Given the description of an element on the screen output the (x, y) to click on. 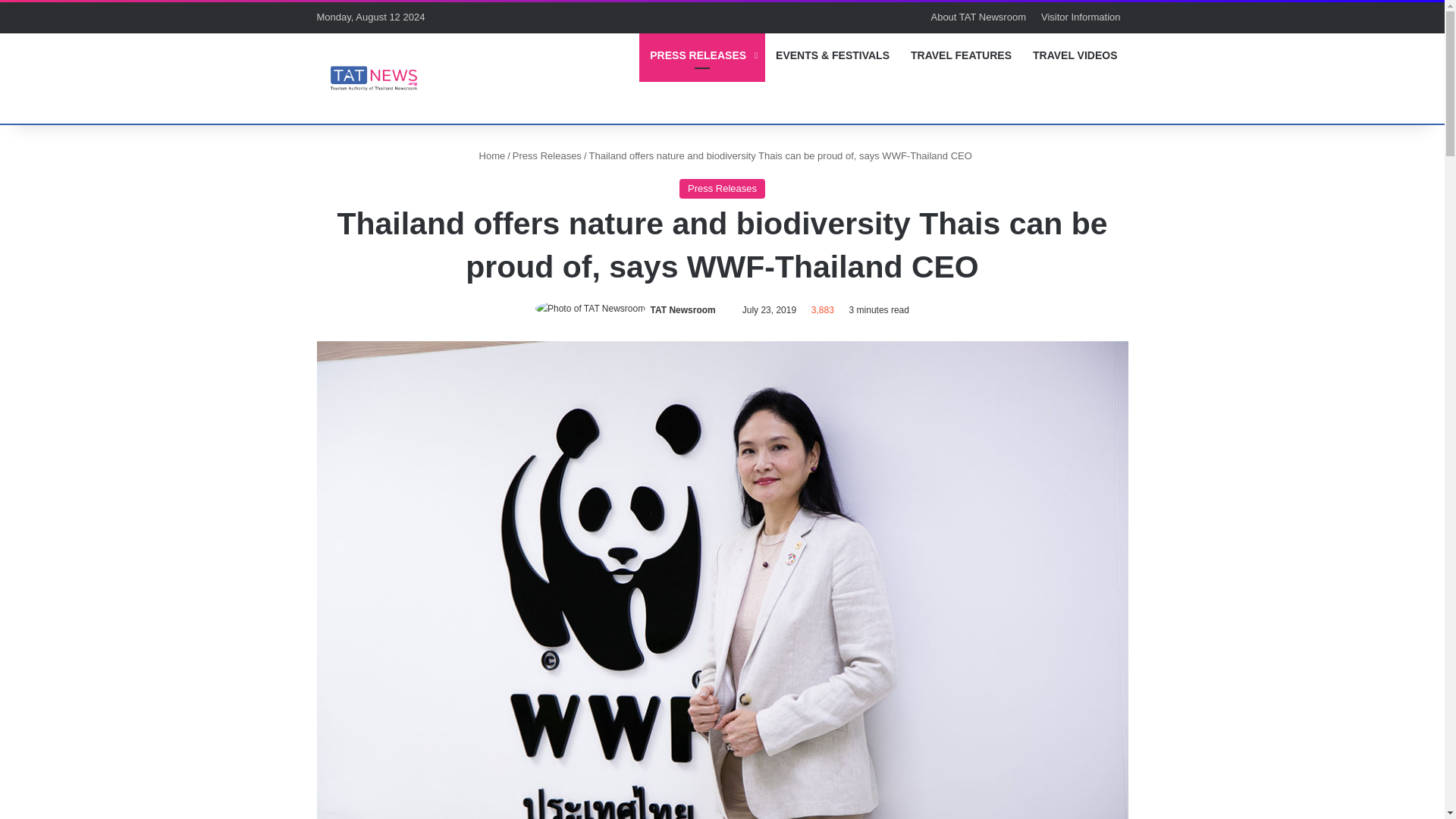
TAT Newsroom (373, 77)
Home (488, 155)
About TAT Newsroom (977, 17)
PRESS RELEASES (702, 54)
Press Releases (722, 189)
TRAVEL FEATURES (960, 54)
Visitor Information (1080, 17)
TRAVEL VIDEOS (1075, 54)
TAT Newsroom (683, 309)
Press Releases (546, 155)
